Given the description of an element on the screen output the (x, y) to click on. 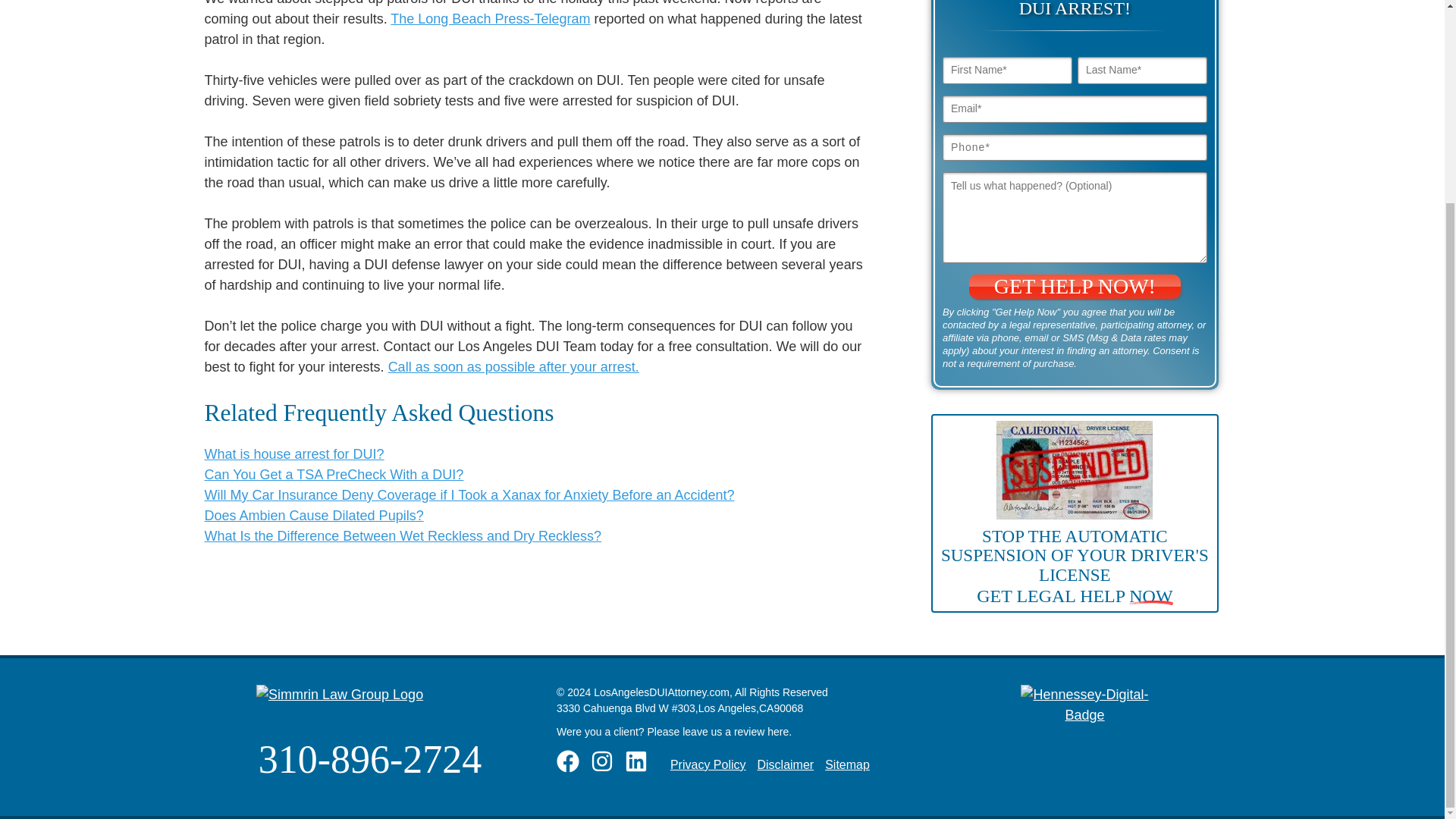
IMMEDIATE ATTORNEY RESPONSE (661, 399)
Get Help Now! (1074, 286)
